Given the description of an element on the screen output the (x, y) to click on. 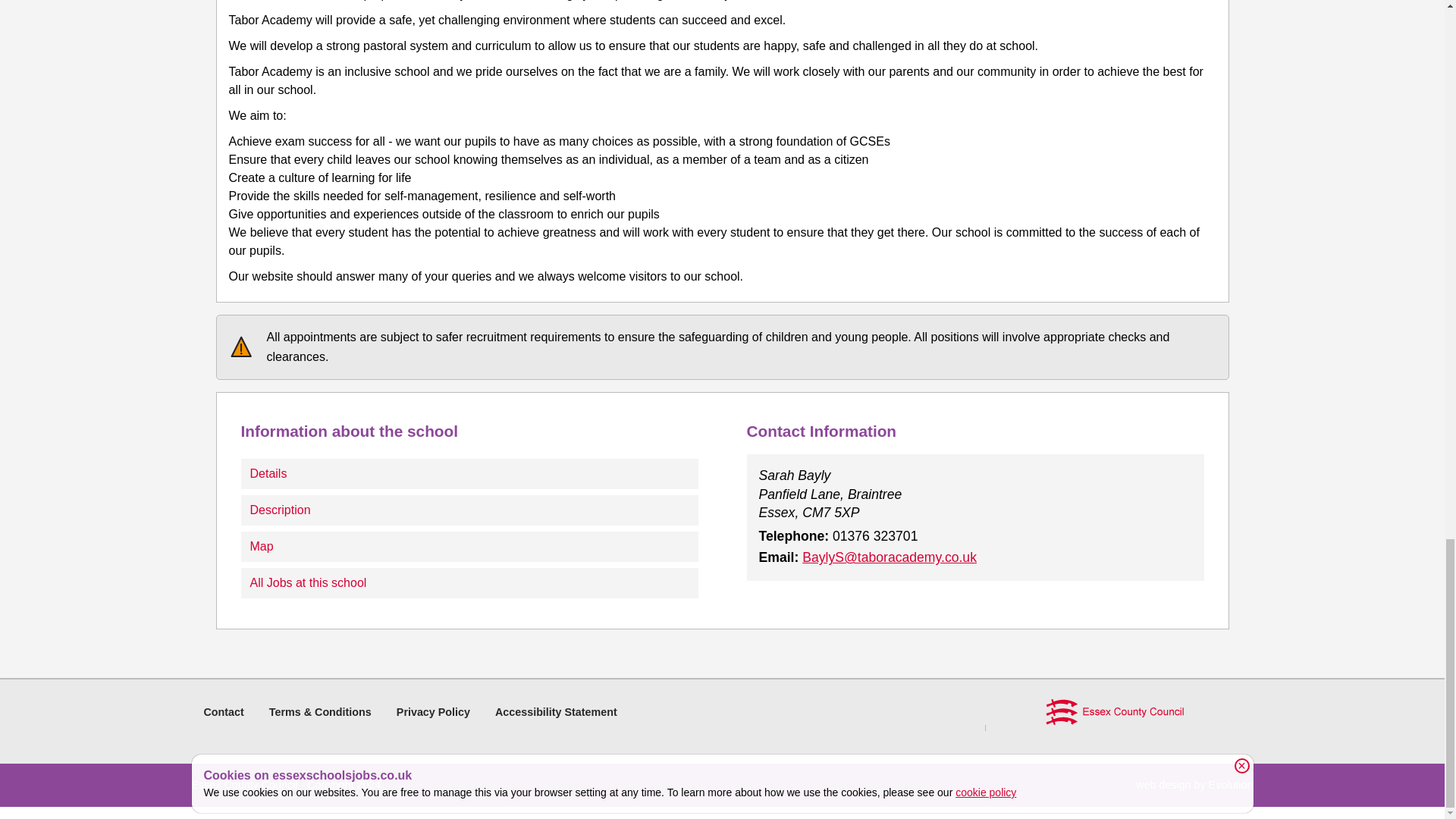
Privacy Policy (433, 711)
Evolution (1230, 784)
Details (469, 473)
Map (469, 546)
Accessibility Statement (556, 711)
All Jobs at this school (469, 583)
Contact (223, 711)
Description (469, 510)
